Given the description of an element on the screen output the (x, y) to click on. 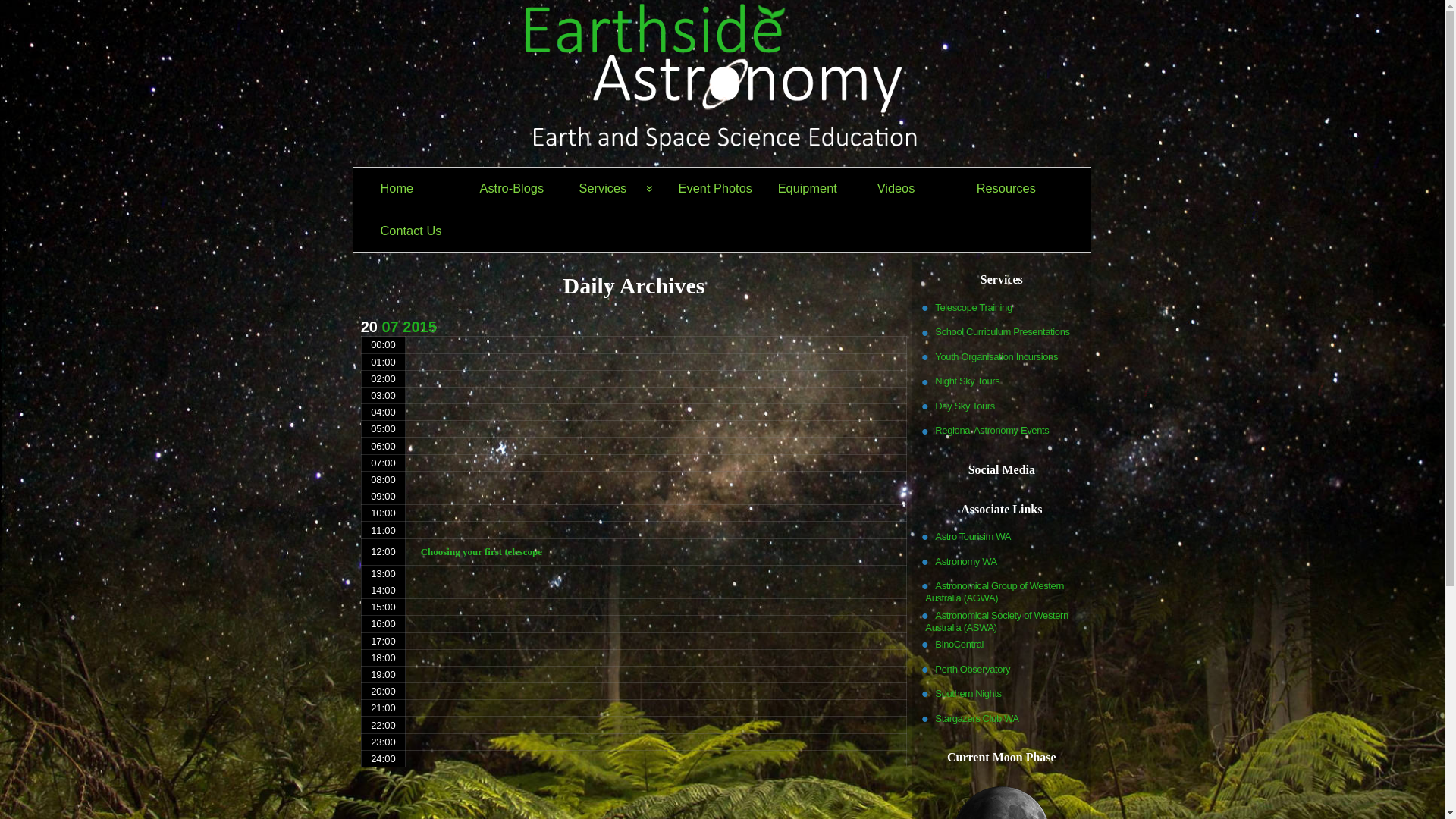
Telescope Training Element type: text (973, 306)
Astro-Blogs Element type: text (516, 188)
Event Photos Element type: text (715, 188)
Night Sky Tours Element type: text (967, 380)
BinoCentral Element type: text (959, 643)
Contact Us Element type: text (417, 231)
07 Element type: text (389, 326)
Astro Tourisim WA Element type: text (972, 535)
Astronomical Group of Western Australia (AGWA) Element type: text (994, 591)
Services Element type: text (615, 188)
Astronomical Society of Western Australia (ASWA) Element type: text (996, 620)
Stargazers Club WA Element type: text (976, 717)
Home Element type: text (417, 188)
Equipment Element type: text (814, 188)
School Curriculum Presentations Element type: text (1002, 331)
Astronomy WA Element type: text (966, 560)
Perth Observatory Element type: text (972, 668)
Videos Element type: text (913, 188)
Regional Astronomy Events Element type: text (991, 429)
2015 Element type: text (419, 326)
Day Sky Tours Element type: text (964, 405)
Resources Element type: text (1013, 188)
Southern Nights Element type: text (967, 692)
Choosing your first telescope Element type: text (656, 551)
Youth Organisation Incursions Element type: text (996, 356)
